Given the description of an element on the screen output the (x, y) to click on. 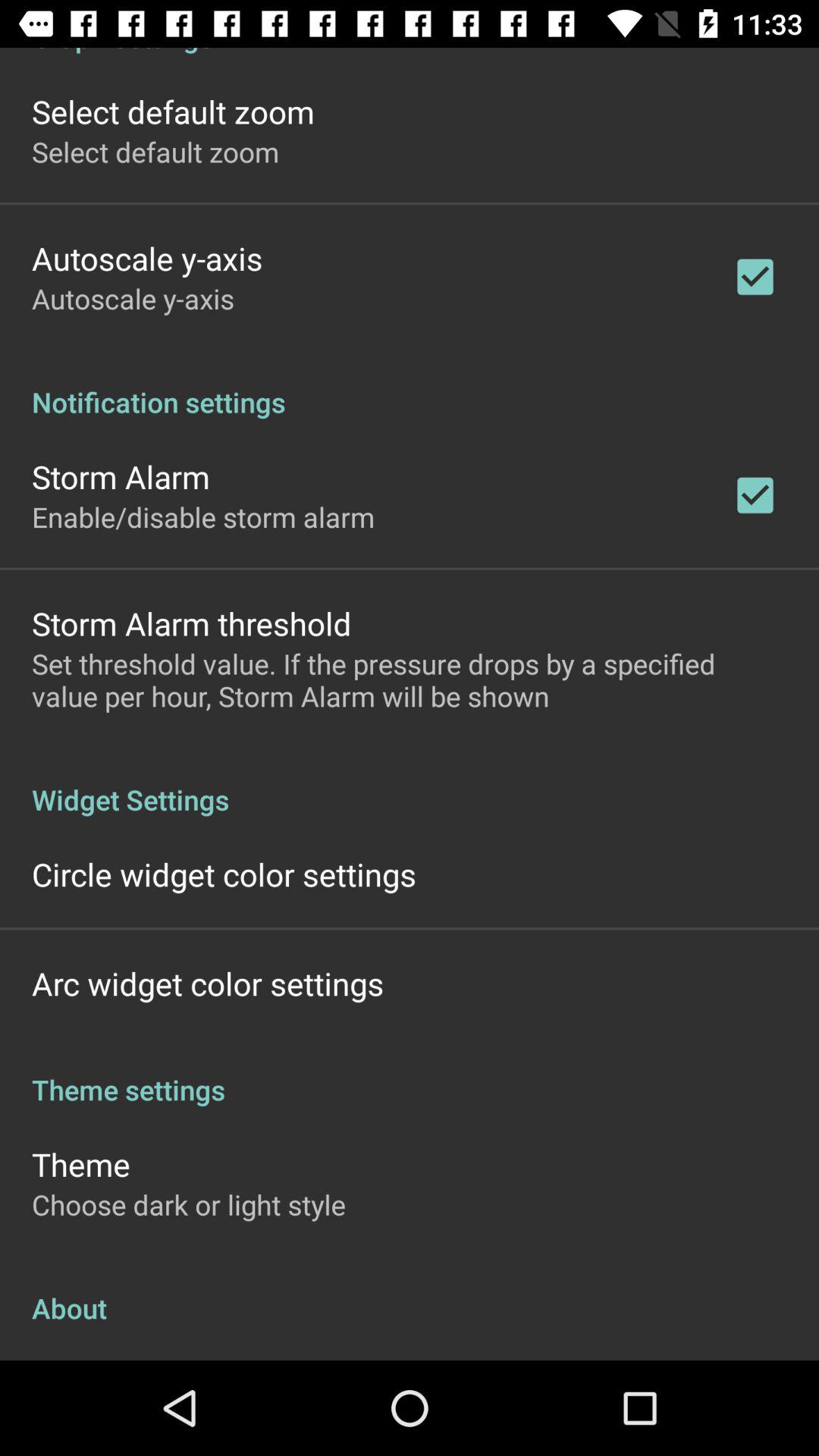
select the item above the about app (188, 1204)
